Given the description of an element on the screen output the (x, y) to click on. 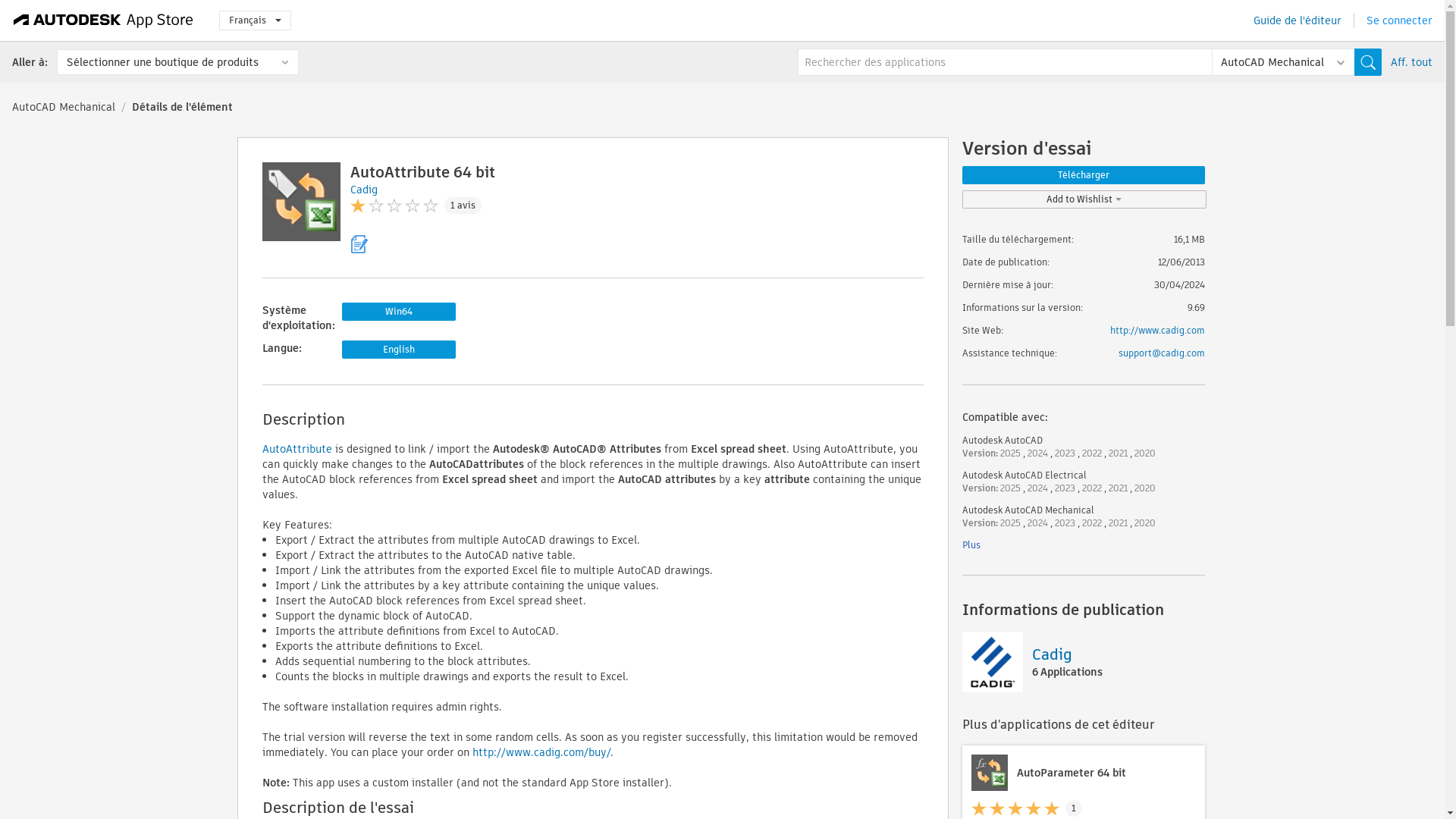
Autodesk App Store (103, 20)
AutoAttribute 64 bit (422, 171)
Se connecter (1399, 20)
